Given the description of an element on the screen output the (x, y) to click on. 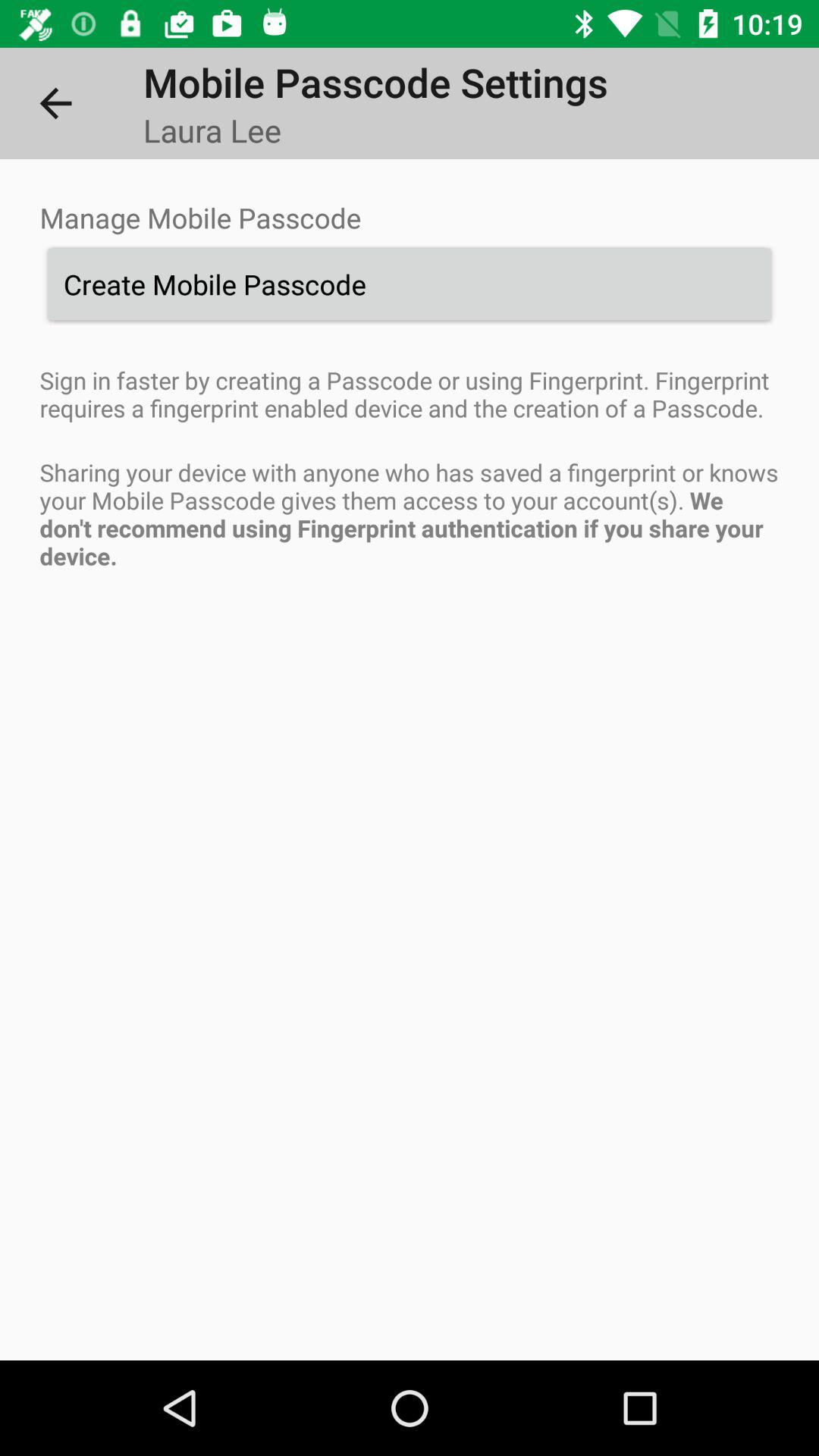
launch the icon next to mobile passcode settings icon (55, 103)
